Given the description of an element on the screen output the (x, y) to click on. 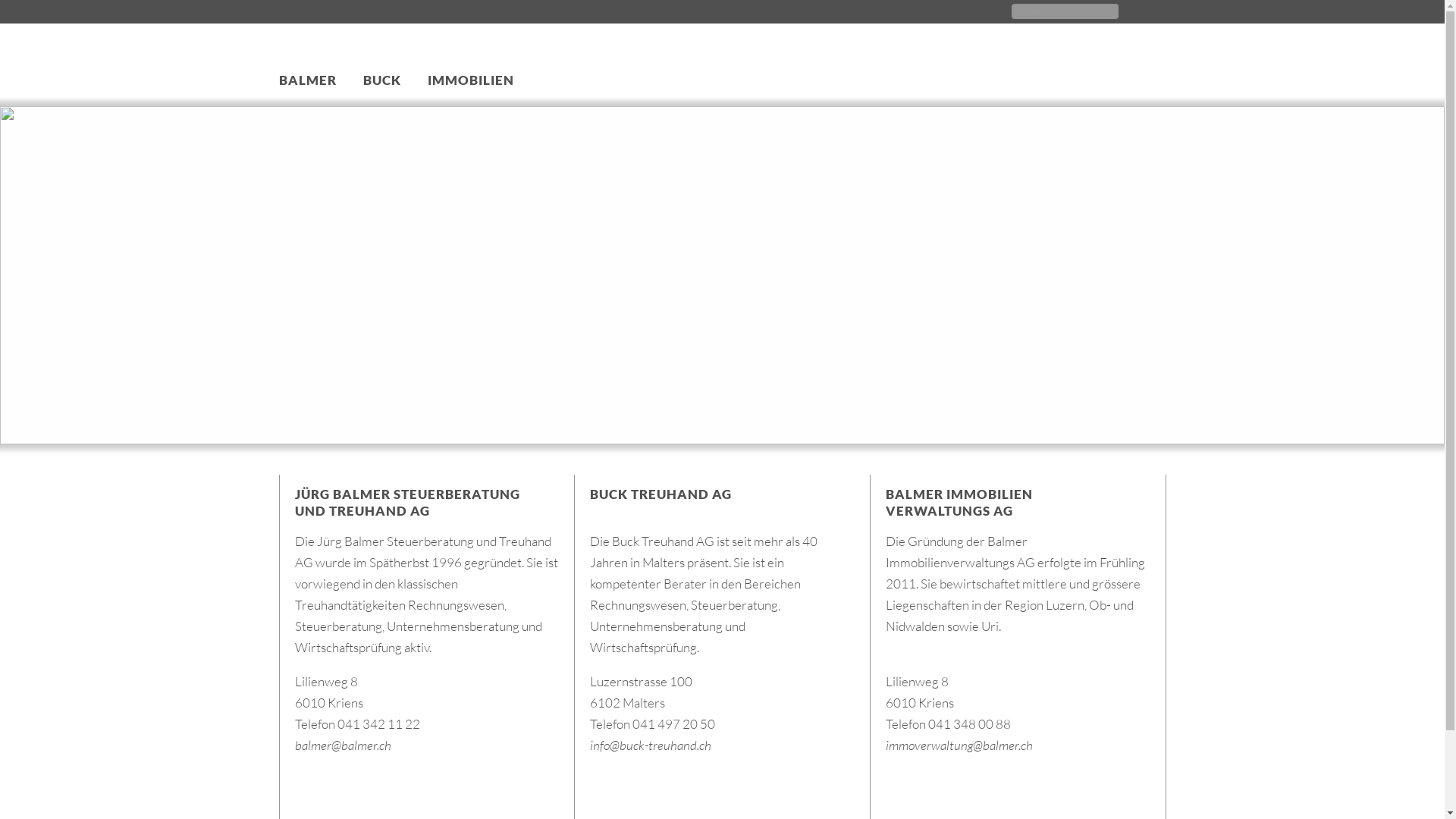
IMMOBILIEN Element type: text (470, 91)
BUCK Element type: text (381, 91)
balmer@balmer.ch Element type: text (342, 745)
BALMER Element type: text (307, 91)
info@buck-treuhand.ch Element type: text (650, 745)
immoverwaltung@balmer.ch Element type: text (958, 745)
